Given the description of an element on the screen output the (x, y) to click on. 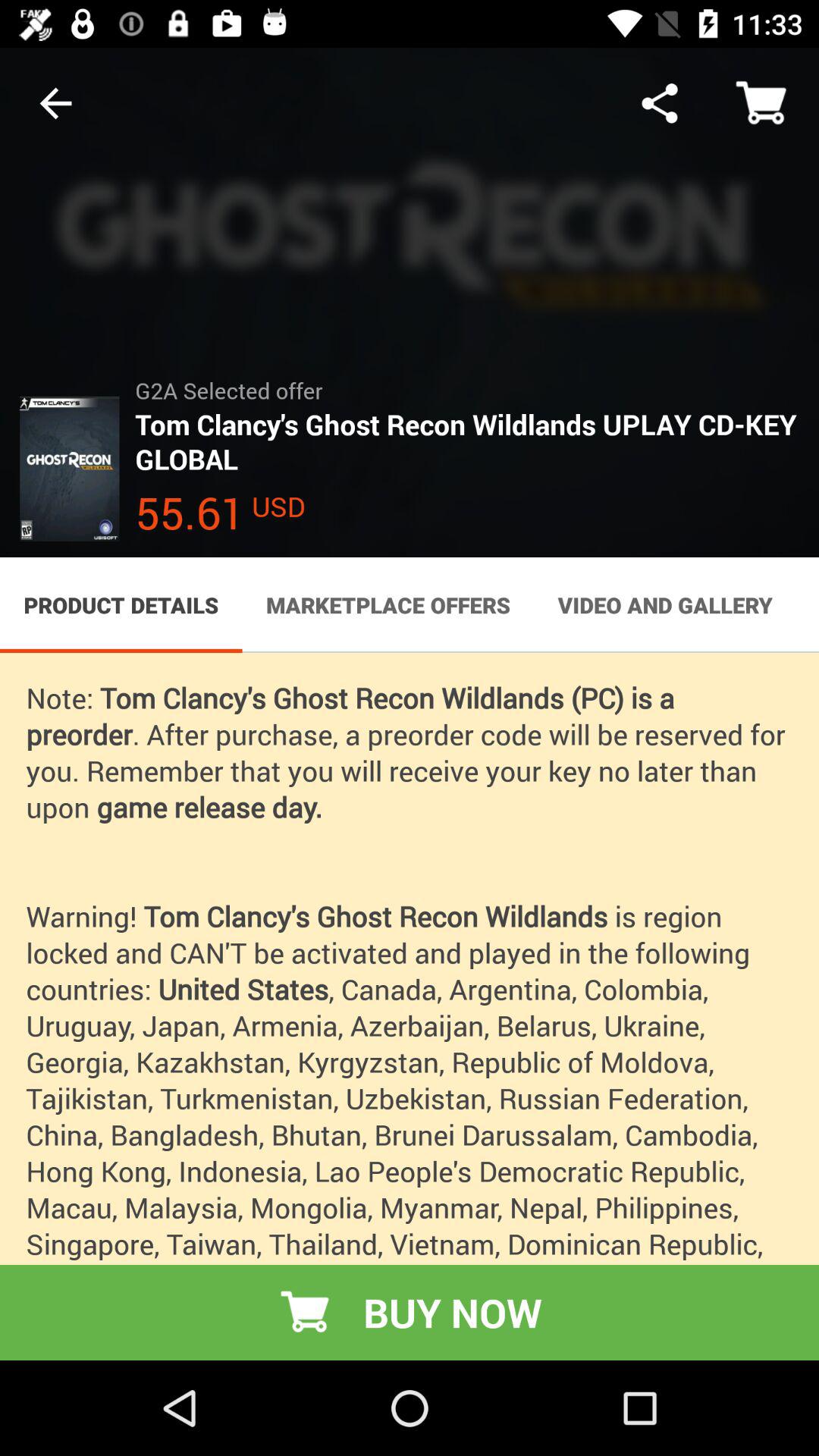
launch icon below product details item (409, 1006)
